Given the description of an element on the screen output the (x, y) to click on. 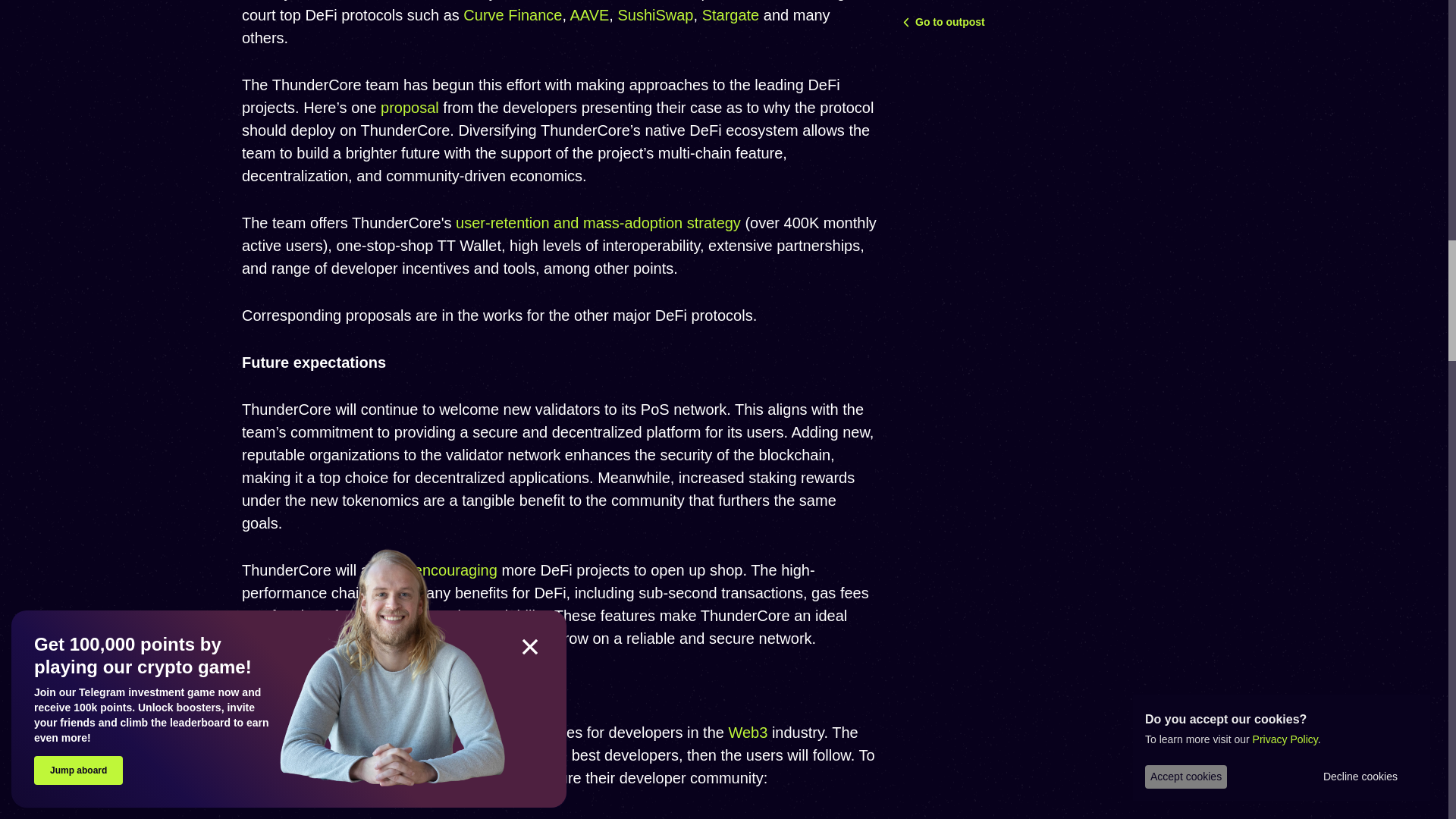
proposal (409, 107)
SushiSwap (655, 14)
encouraging (455, 569)
AAVE (588, 14)
Web3 (747, 732)
user-retention and mass-adoption strategy (598, 222)
Stargate (730, 14)
Curve Finance (512, 14)
